Given the description of an element on the screen output the (x, y) to click on. 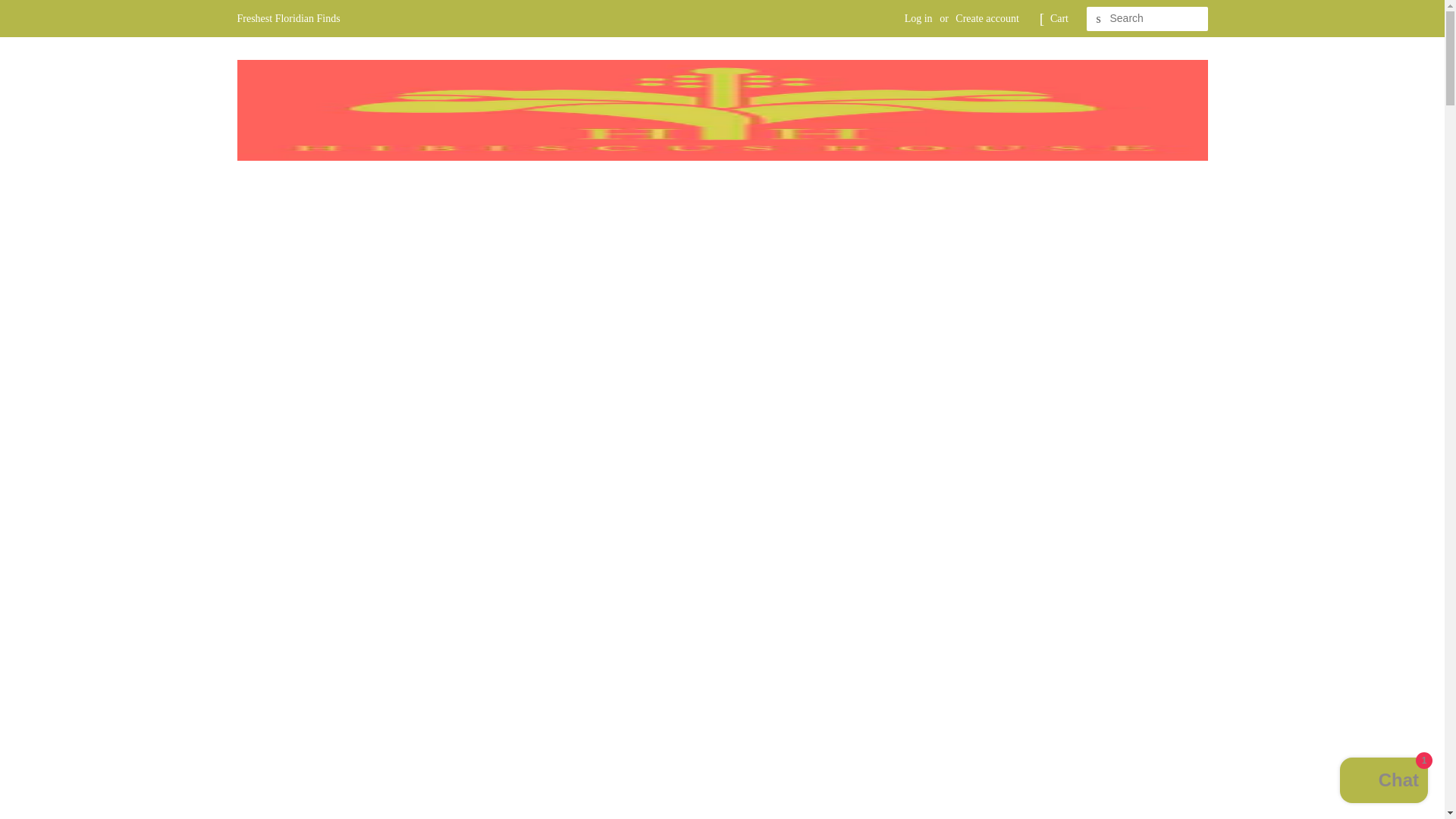
Cart (1058, 18)
Shopify online store chat (1383, 781)
Freshest Floridian Finds (287, 18)
SEARCH (1097, 18)
Log in (918, 18)
Create account (987, 18)
